Given the description of an element on the screen output the (x, y) to click on. 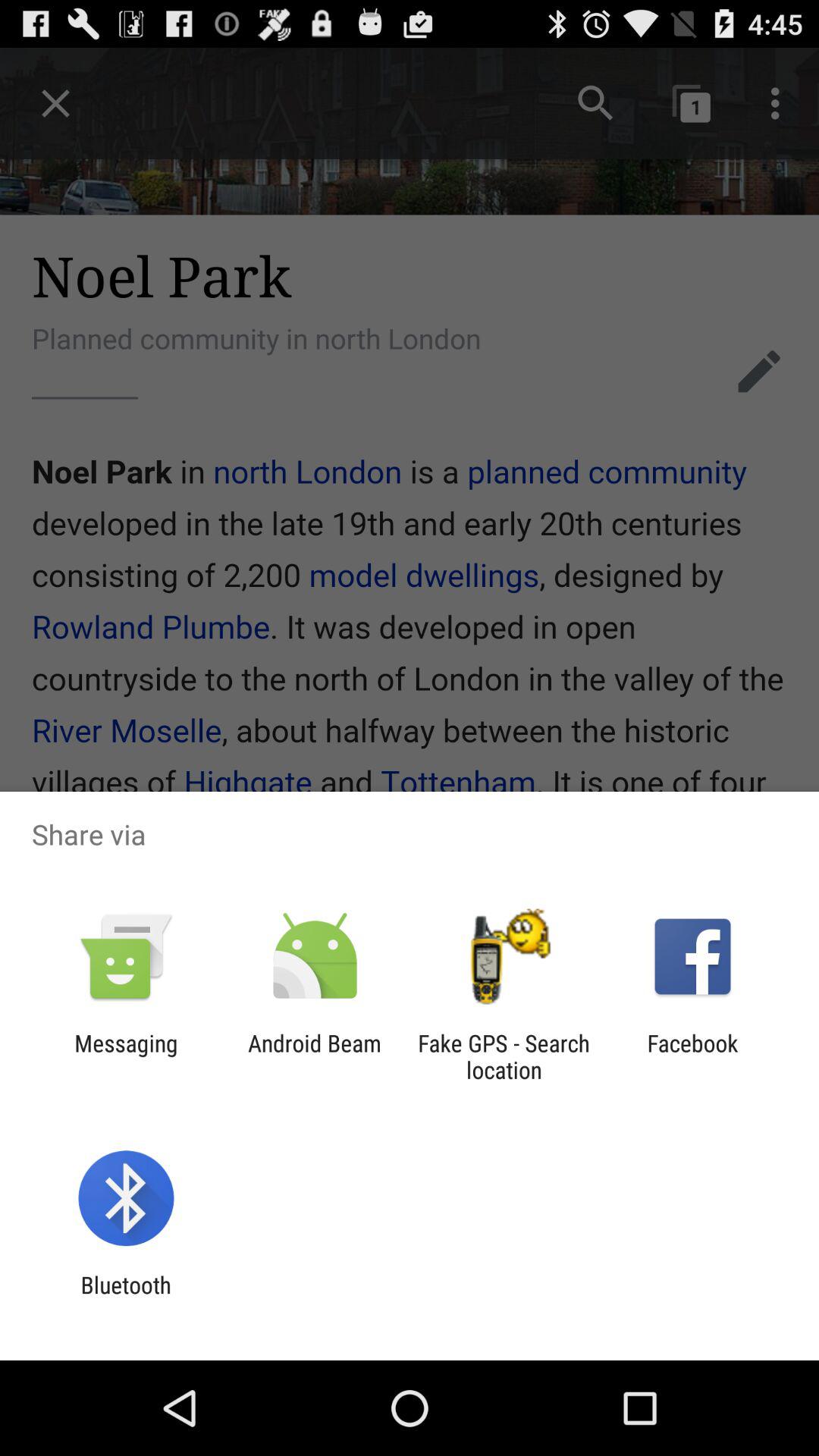
open the app next to the fake gps search (692, 1056)
